Given the description of an element on the screen output the (x, y) to click on. 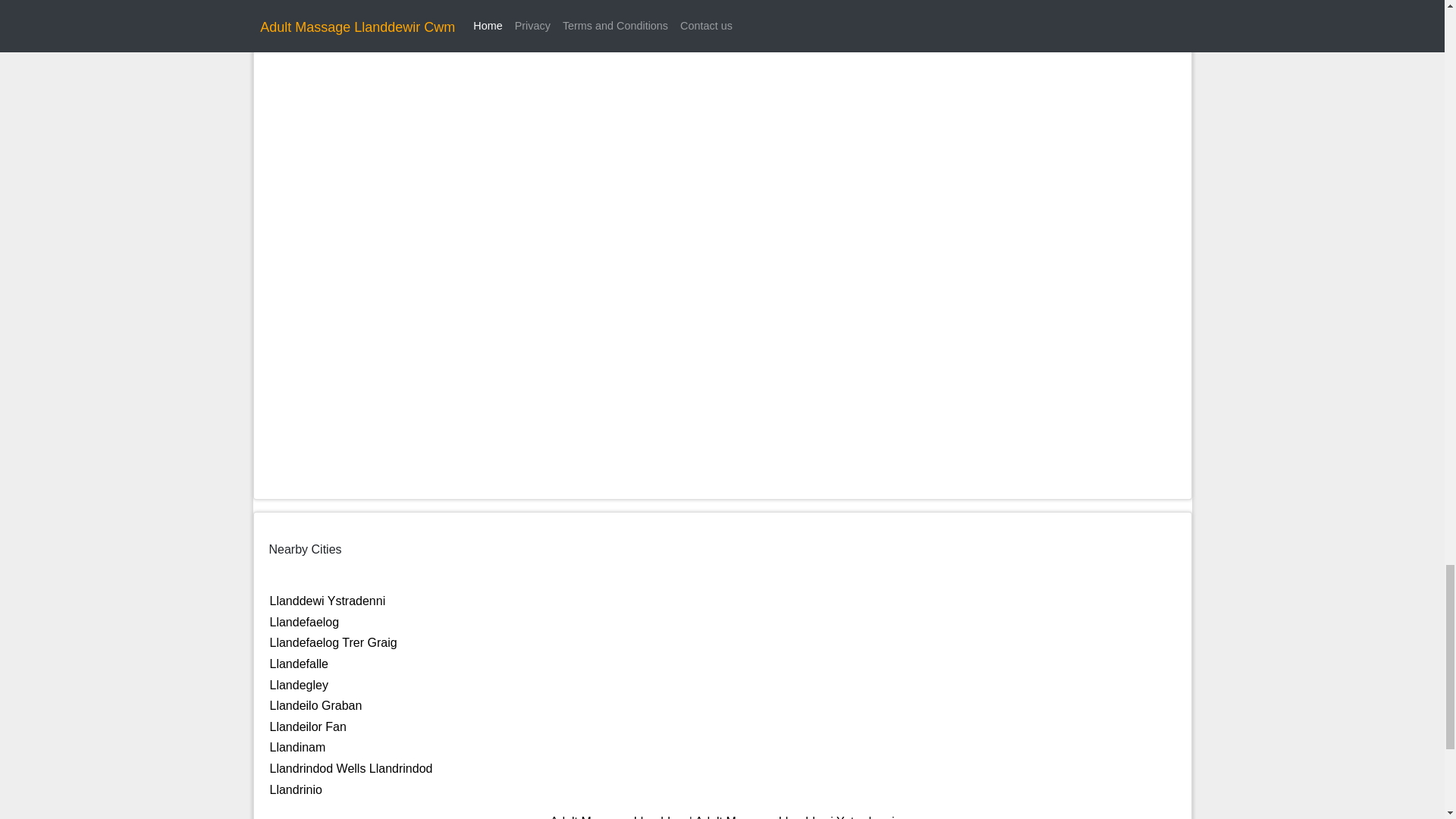
Llandefaelog (304, 621)
Llandefaelog Trer Graig (333, 642)
Adult Massage Llanddewi Ystradenni (793, 816)
Llandefalle (299, 663)
Llandrinio (295, 789)
Adult Massage Llanddew (617, 816)
Llandinam (297, 747)
Llandegley (299, 684)
Llandrindod Wells Llandrindod (350, 768)
Llandeilor Fan (307, 726)
Llandeilo Graban (315, 705)
Llanddewi Ystradenni (327, 600)
